Given the description of an element on the screen output the (x, y) to click on. 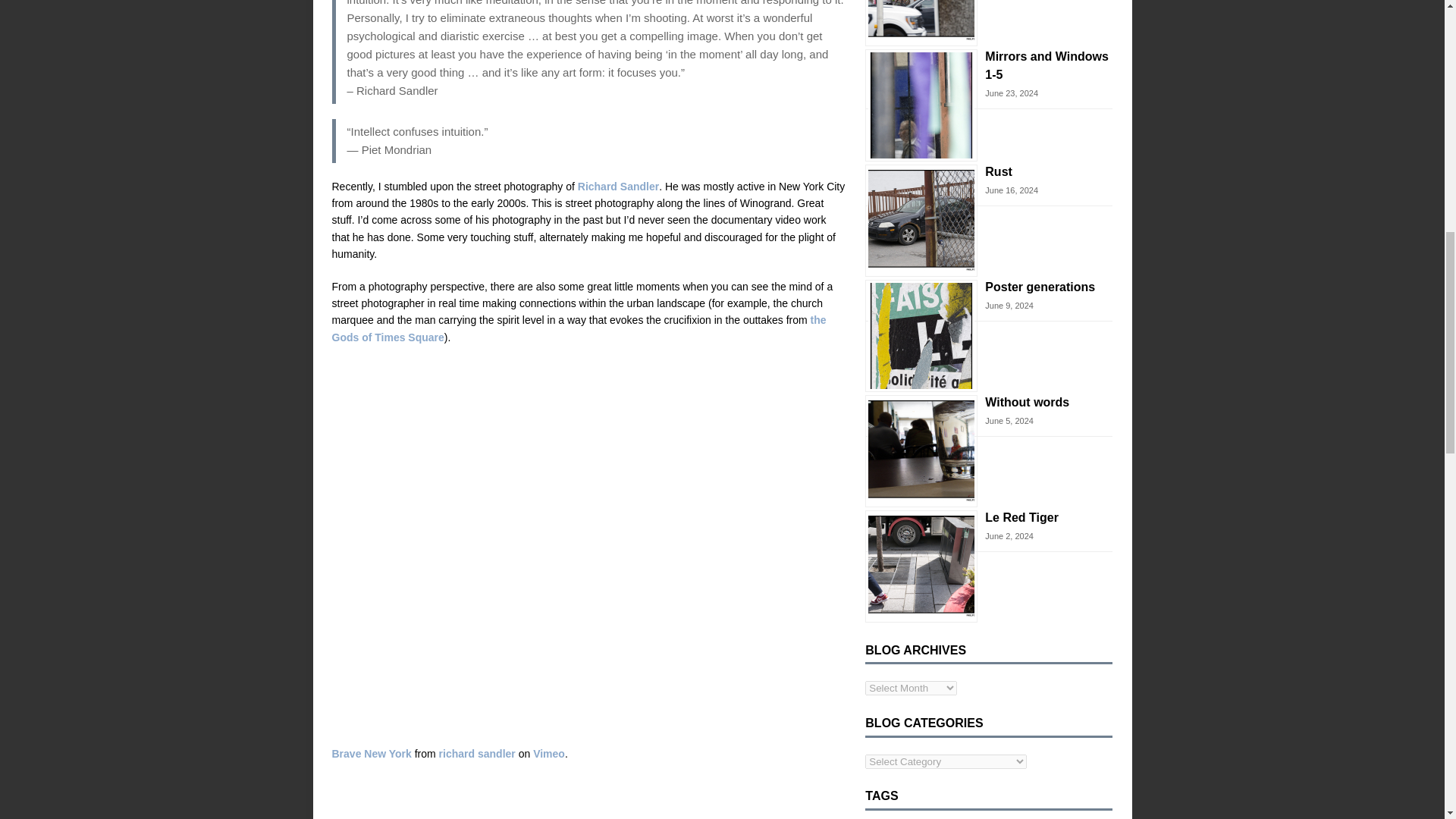
Brave New York (371, 753)
richard sandler (477, 753)
Vimeo (548, 753)
Richard Sandler (618, 186)
the Gods of Times Square (579, 328)
